Given the description of an element on the screen output the (x, y) to click on. 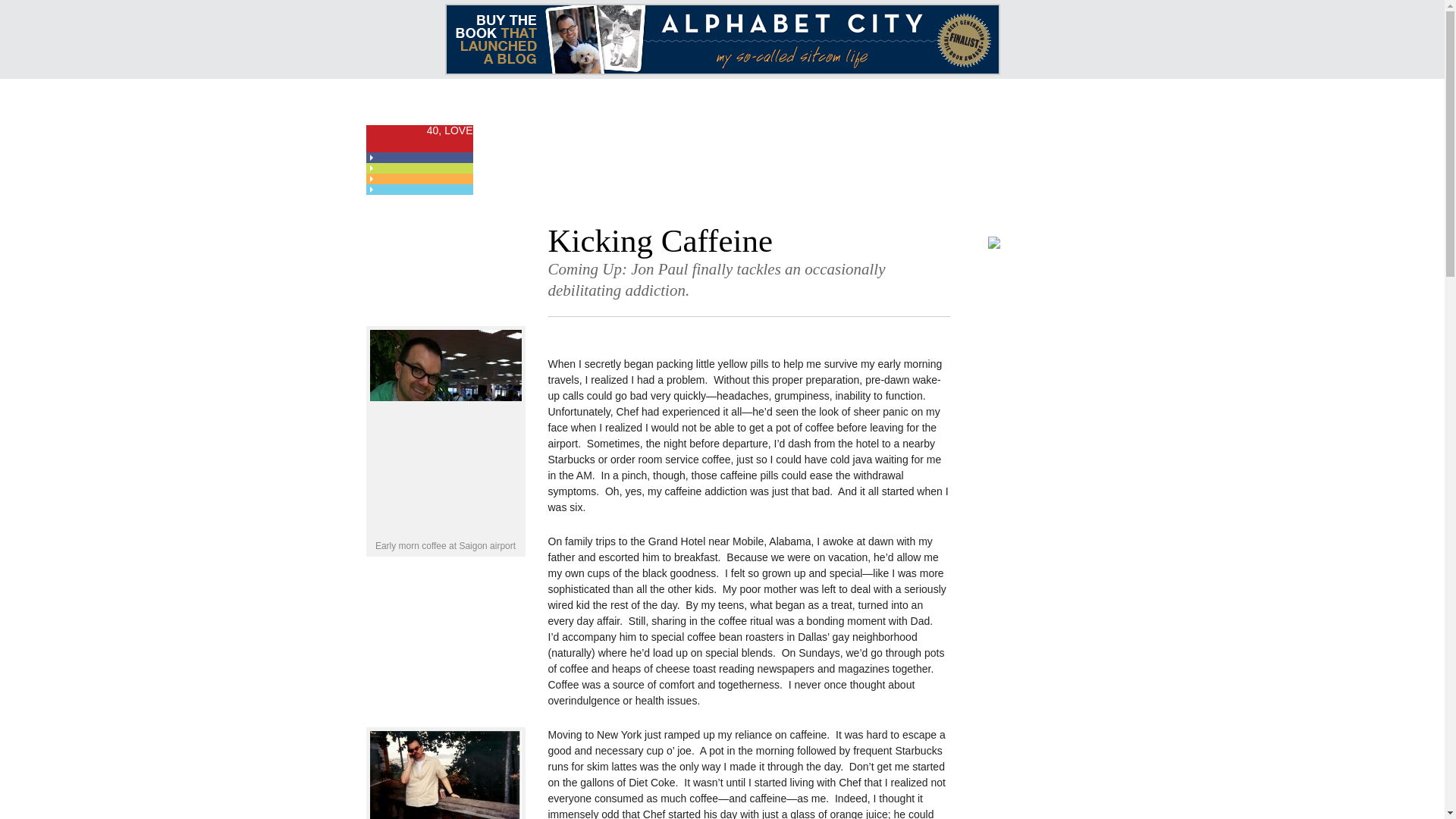
Savvy Socializer (418, 189)
Tex And The City (418, 178)
Gay Globe Trekker (418, 167)
JPBworkRio (445, 775)
Search (966, 102)
40, LOVE (418, 138)
home (418, 102)
Service Entrance (418, 157)
Search (966, 102)
